Given the description of an element on the screen output the (x, y) to click on. 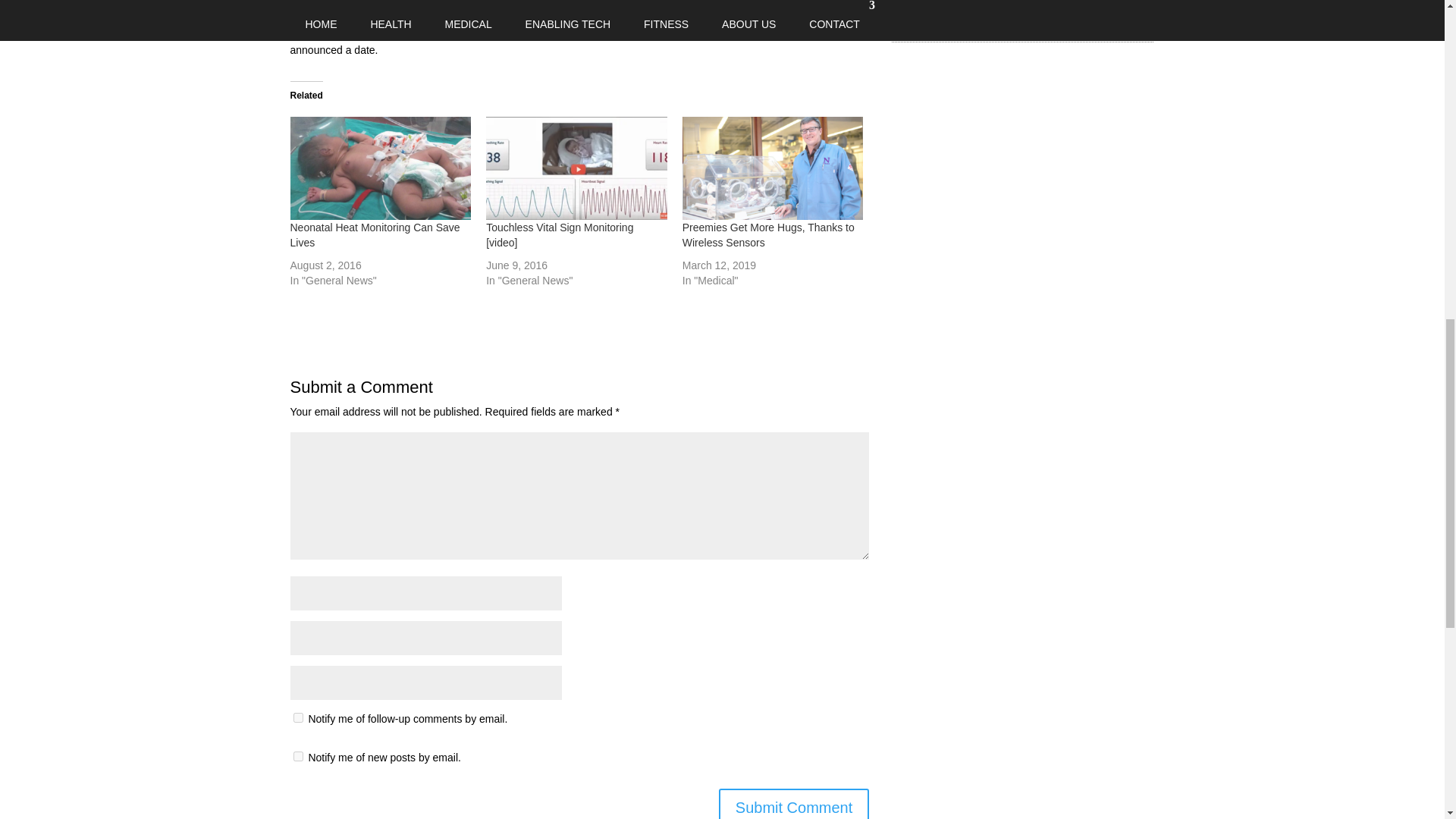
Neonatal Heat Monitoring Can Save Lives (379, 168)
subscribe (297, 756)
Neonatal Heat Monitoring Can Save Lives (374, 234)
Submit Comment (794, 803)
Preemies Get More Hugs, Thanks to Wireless Sensors (772, 168)
Preemies Get More Hugs, Thanks to Wireless Sensors (768, 234)
Preemies Get More Hugs, Thanks to Wireless Sensors (768, 234)
subscribe (297, 717)
Neonatal Heat Monitoring Can Save Lives (374, 234)
Submit Comment (794, 803)
